Given the description of an element on the screen output the (x, y) to click on. 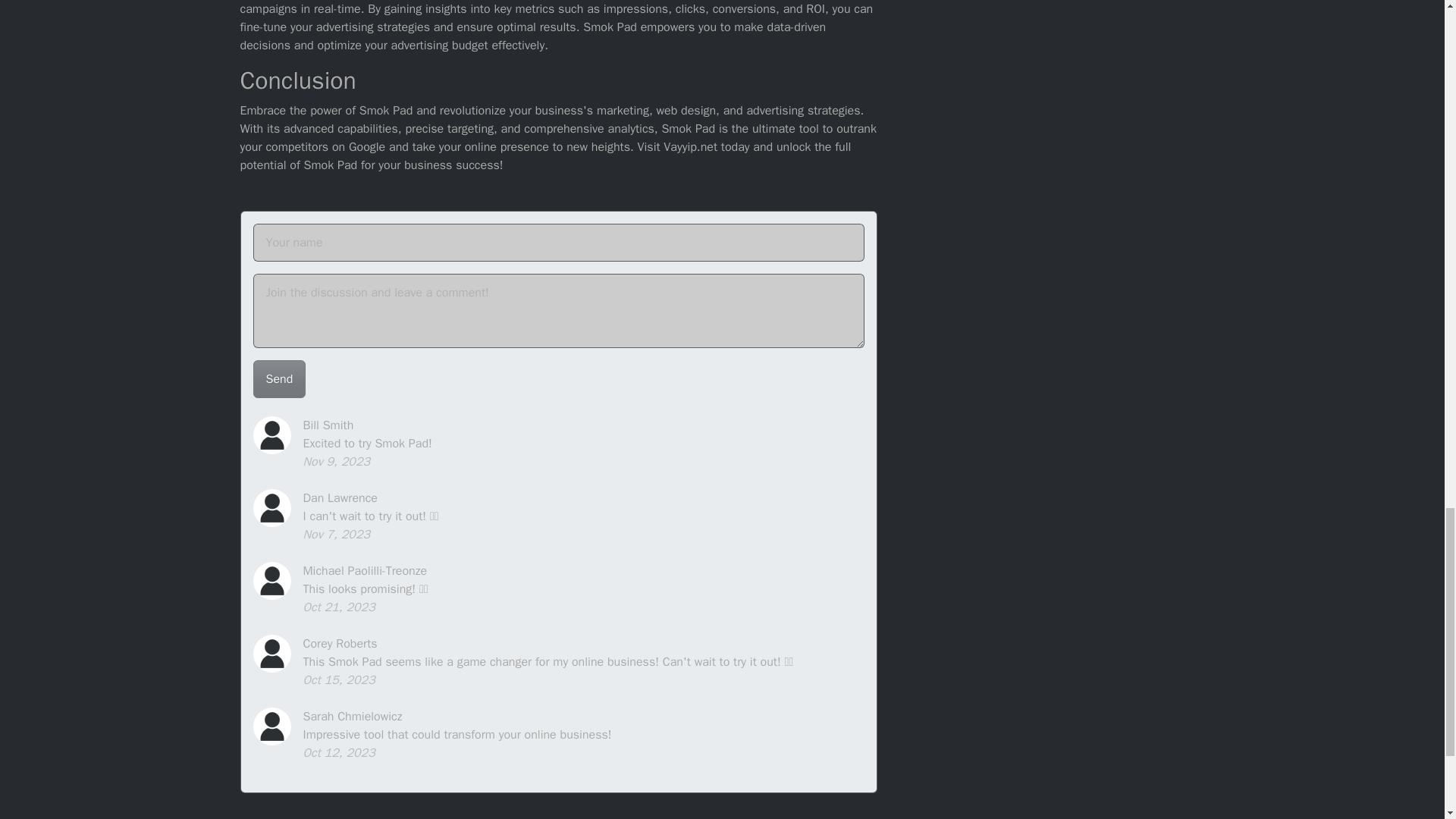
Send (279, 379)
Send (279, 379)
